Given the description of an element on the screen output the (x, y) to click on. 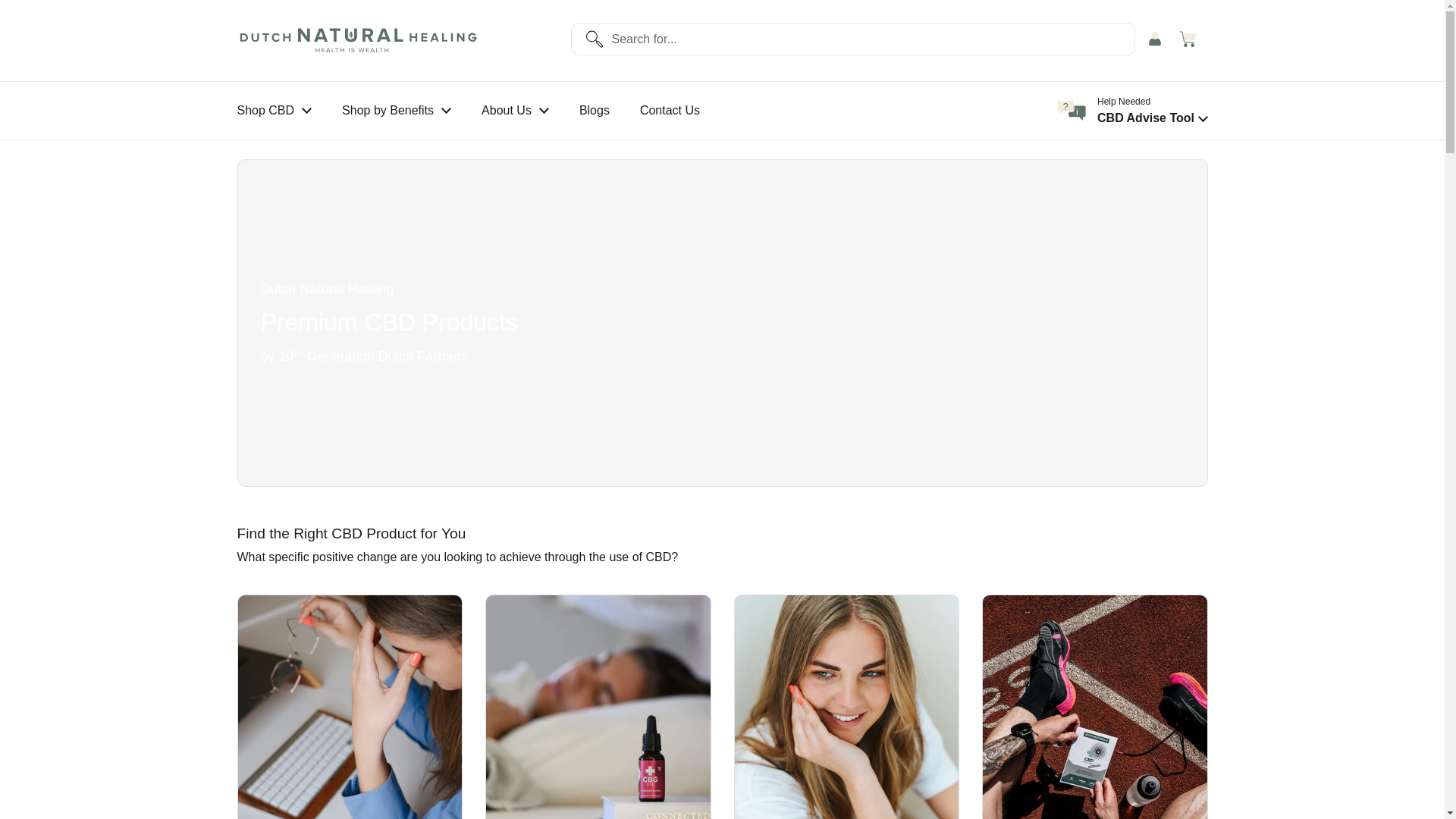
Dutch Natural Healing (357, 40)
Contact Us (669, 110)
Shop CBD (273, 110)
Shop by Benefits (395, 110)
Shop CBD (273, 110)
Open cart (1190, 40)
Blogs (594, 110)
Shop by Benefits (395, 110)
About Us (514, 110)
